Given the description of an element on the screen output the (x, y) to click on. 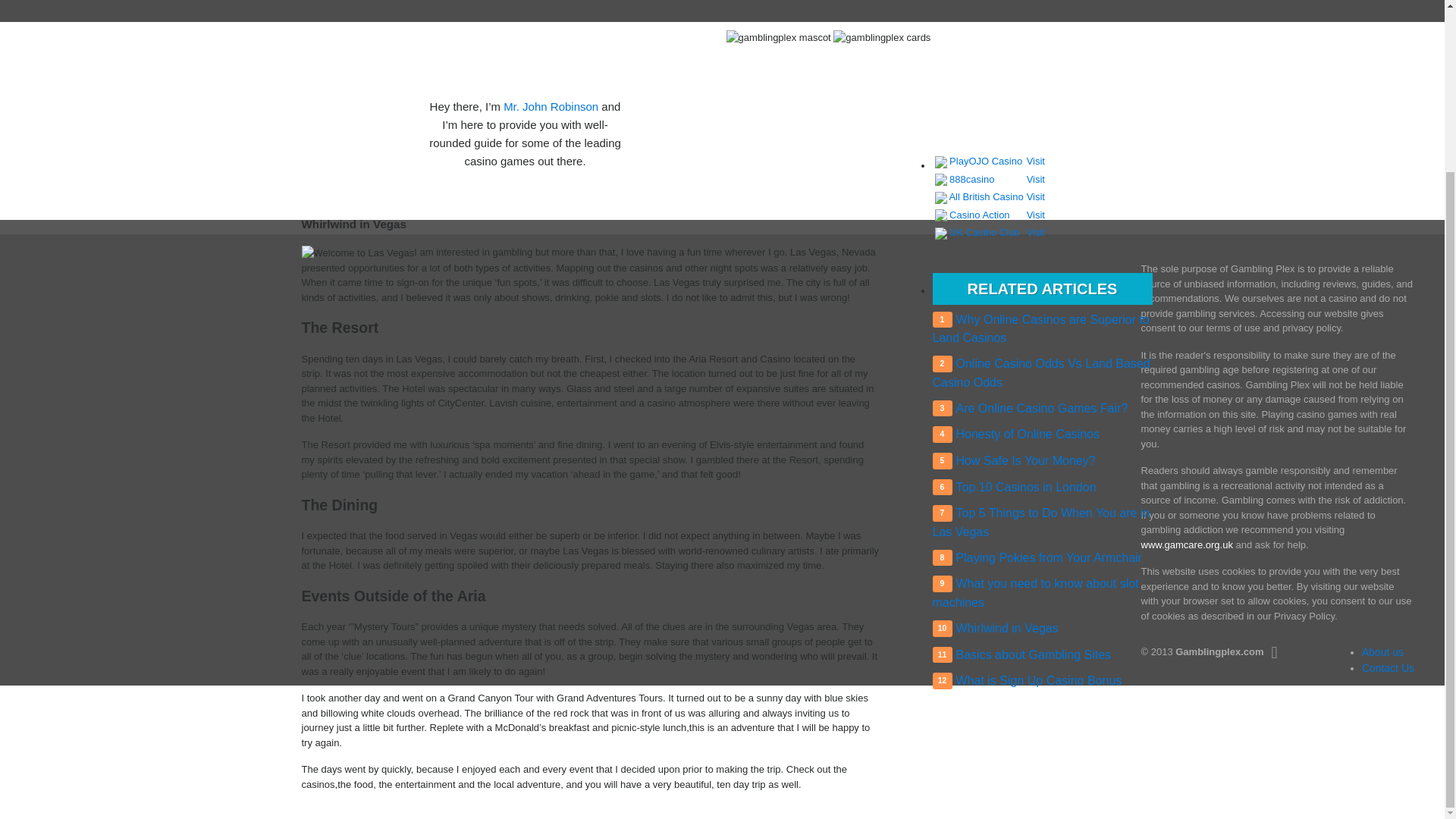
What you need to know about slot machines (1035, 593)
Whirlwind in Vegas (1006, 627)
www.gamcare.org.uk (1185, 544)
Top 10 Casinos in London (1025, 486)
Are Online Casino Games Fair? (1040, 408)
Visit (1035, 214)
Mr. John Robinson (550, 106)
Contact Us (1387, 667)
Honesty of Online Casinos (1027, 433)
Top 5 Things to Do When You are in Las Vegas (1041, 522)
